Given the description of an element on the screen output the (x, y) to click on. 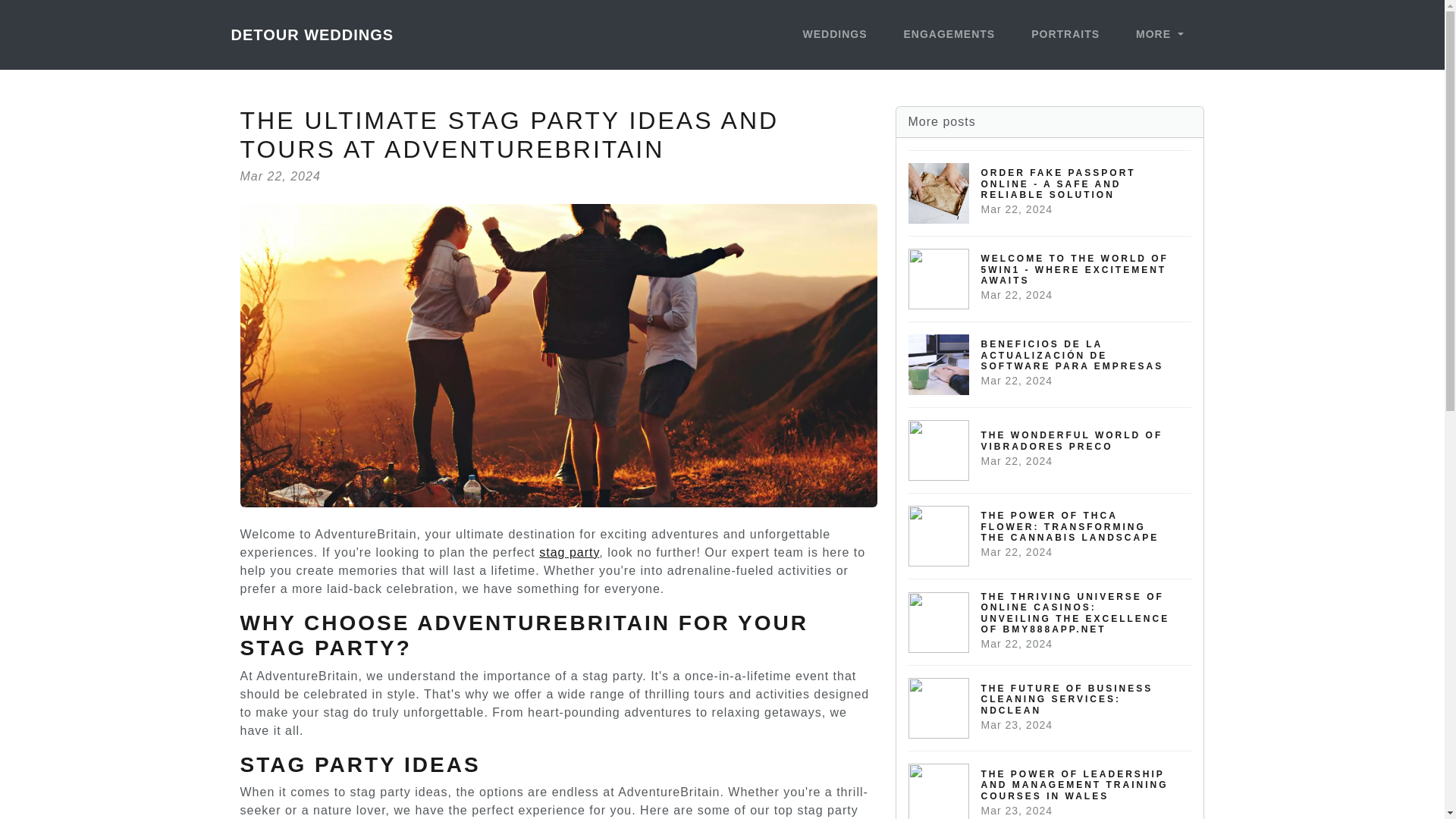
MORE (1159, 34)
DETOUR WEDDINGS (311, 34)
stag party (568, 552)
ENGAGEMENTS (948, 34)
